Given the description of an element on the screen output the (x, y) to click on. 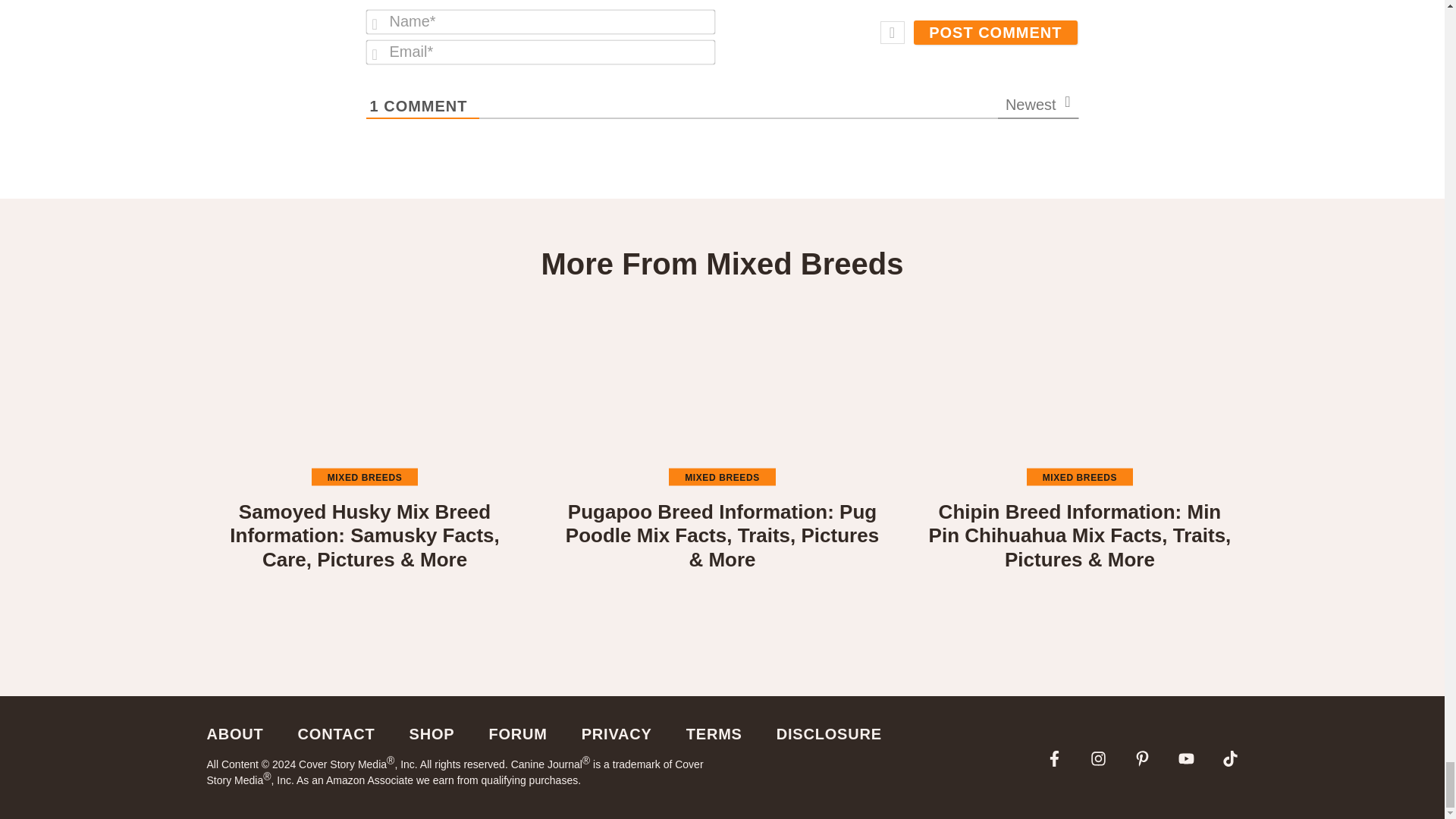
Post Comment (995, 32)
